Given the description of an element on the screen output the (x, y) to click on. 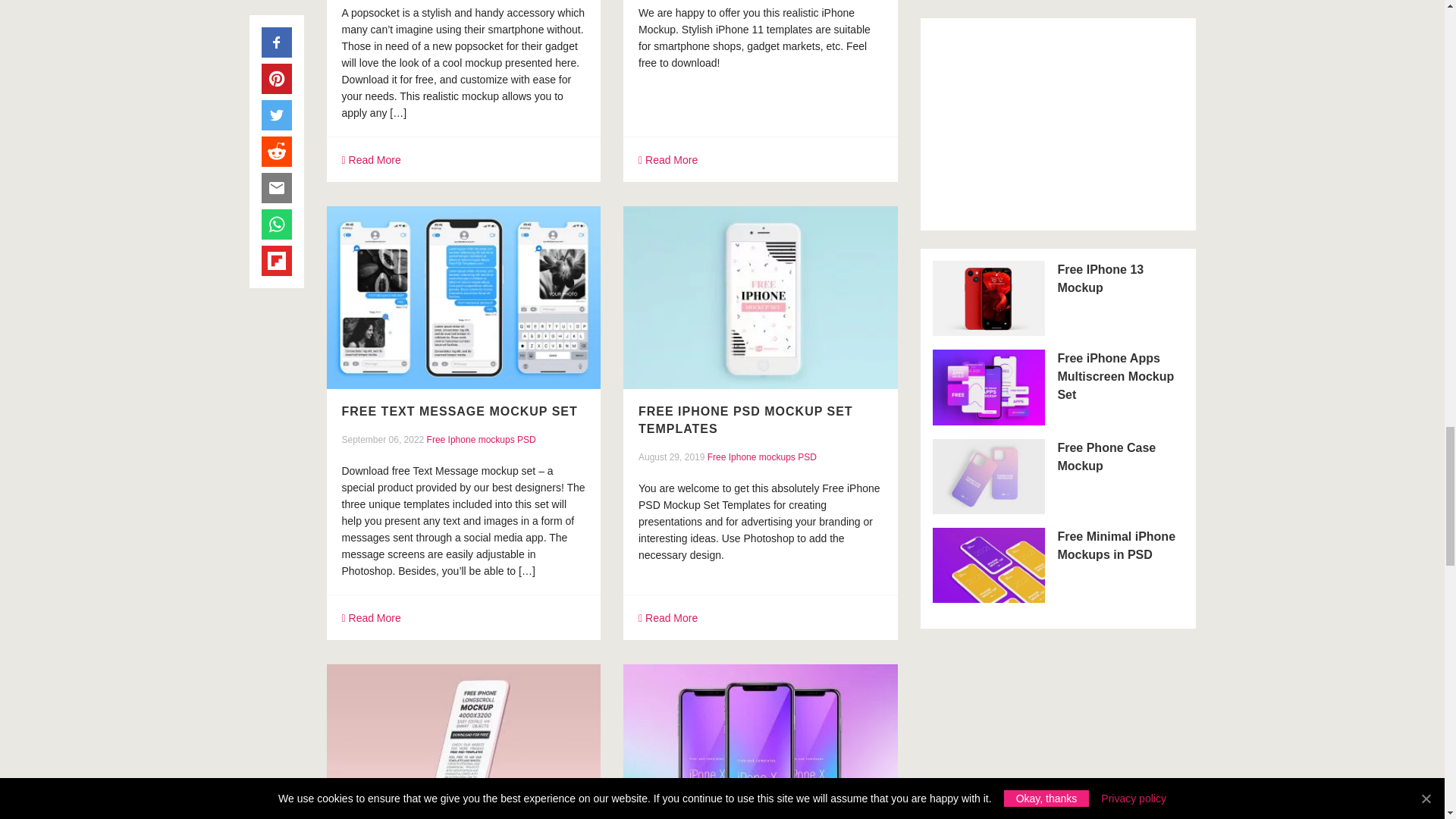
Free Text Message Mockup Set (458, 410)
Free iPhone PSD Mockup Set Templates (760, 298)
Free Text Message Mockup Set (462, 298)
Free Text Message Mockup Set (462, 297)
Free iPhone PSD Mockup Set Templates (760, 297)
Free iPhone PSD Mockup Set Templates (746, 419)
